Given the description of an element on the screen output the (x, y) to click on. 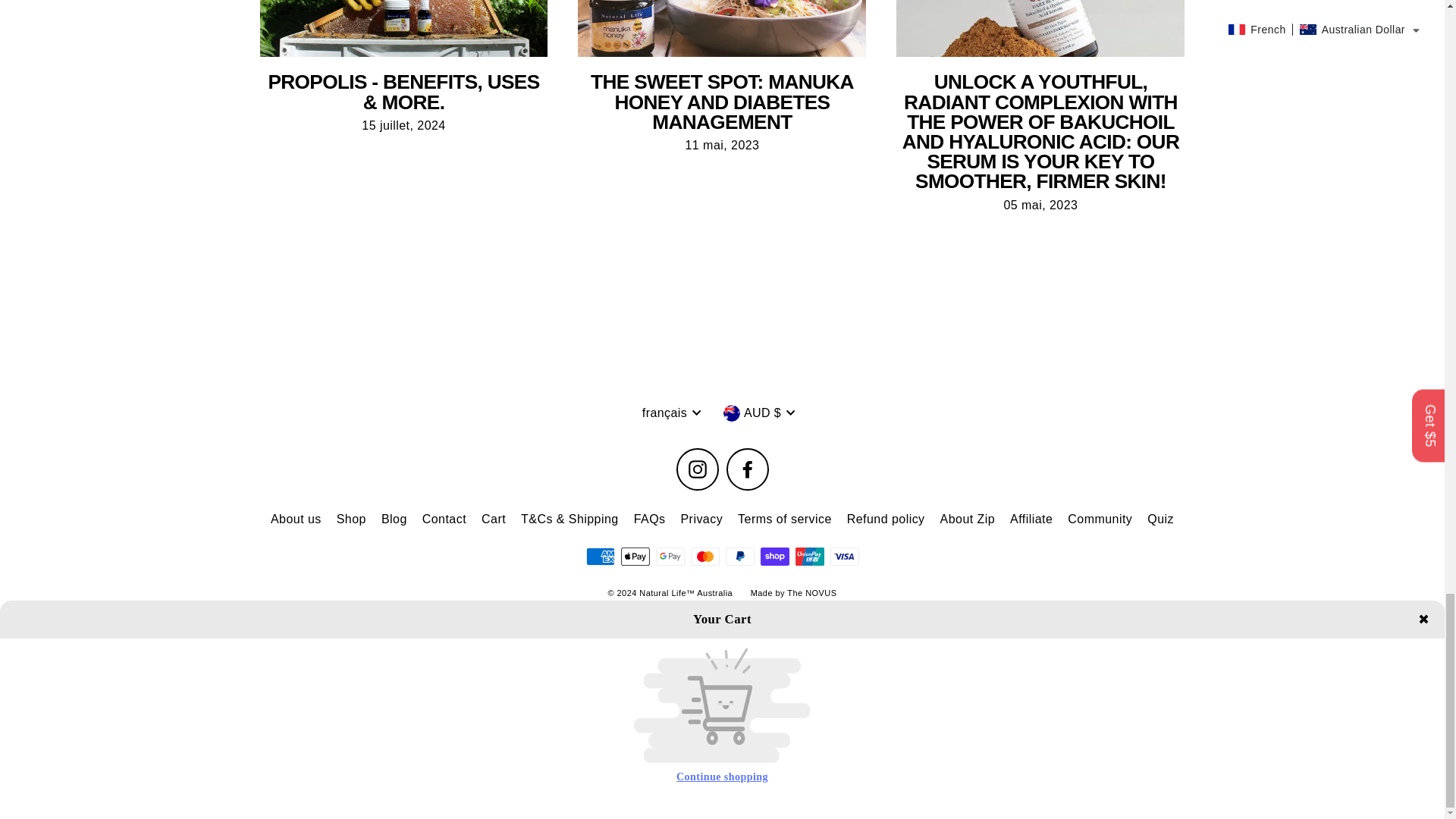
Mastercard (704, 556)
American Express (599, 556)
PayPal (739, 556)
Apple Pay (634, 556)
Google Pay (669, 556)
